Given the description of an element on the screen output the (x, y) to click on. 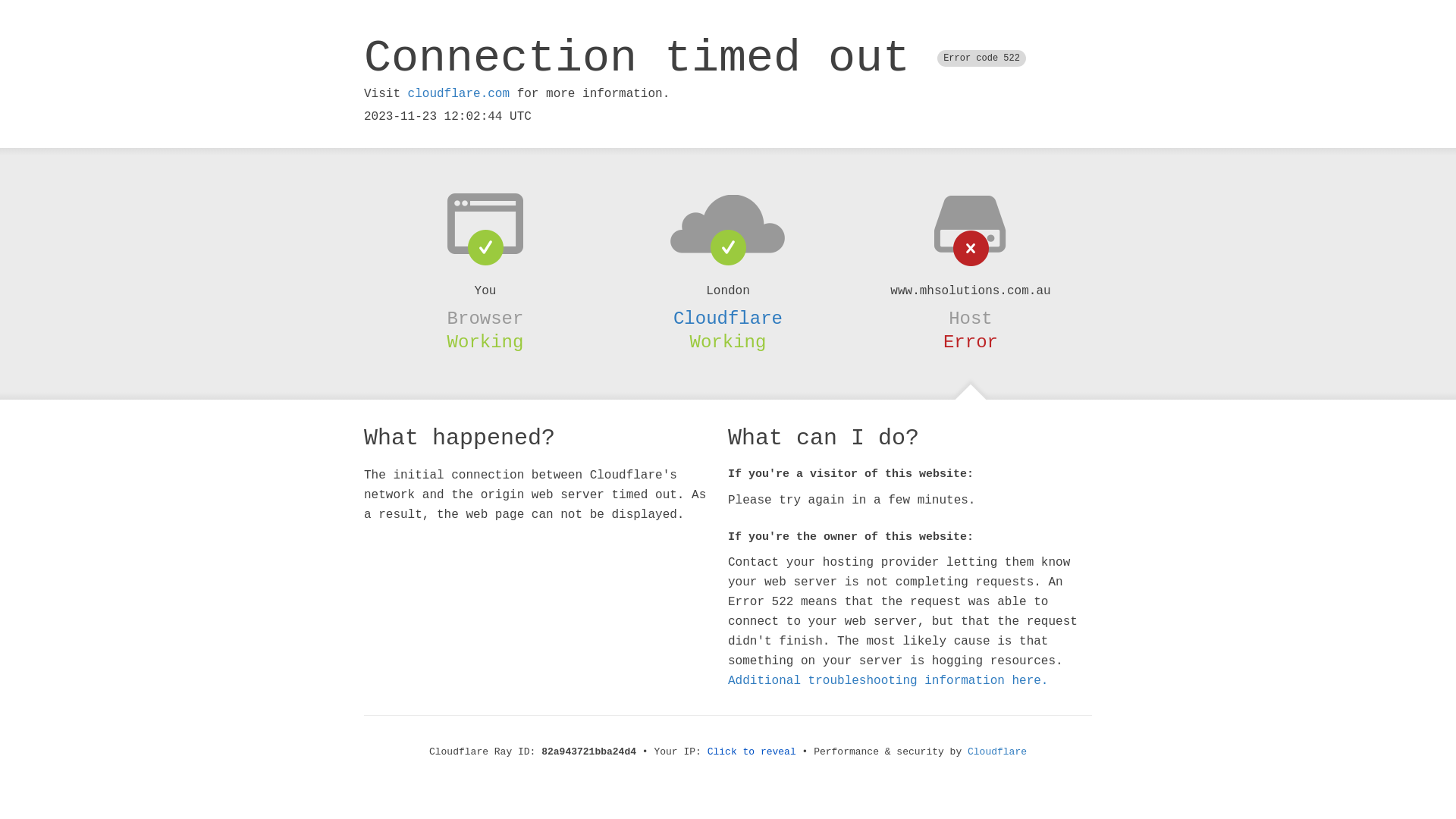
Cloudflare Element type: text (727, 318)
Cloudflare Element type: text (996, 751)
Additional troubleshooting information here. Element type: text (888, 680)
Click to reveal Element type: text (751, 751)
cloudflare.com Element type: text (458, 93)
